Given the description of an element on the screen output the (x, y) to click on. 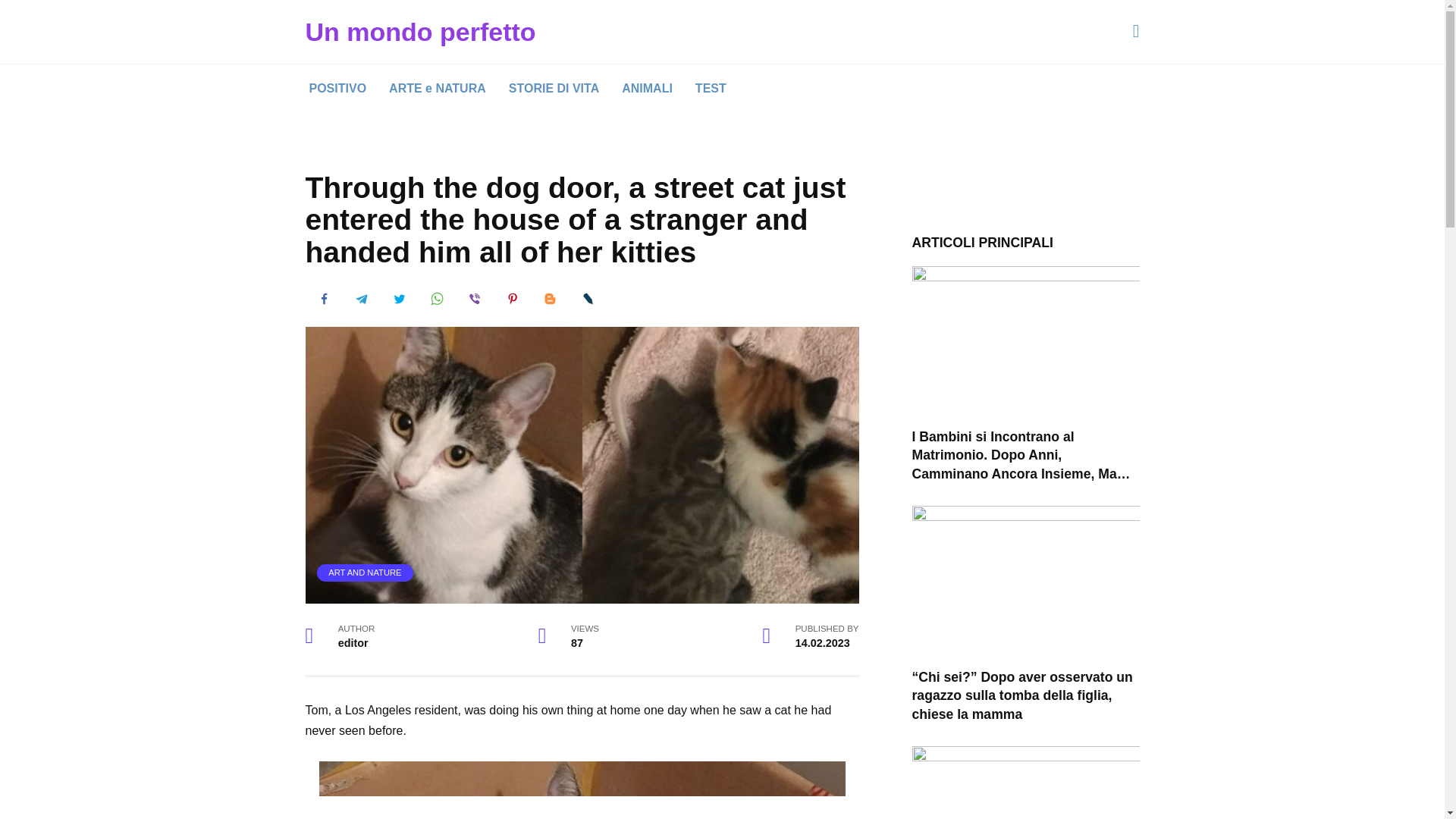
ART AND NATURE (365, 572)
POSITIVO (337, 88)
ARTE e NATURA (437, 88)
Un mondo perfetto (419, 31)
STORIE DI VITA (553, 88)
ANIMALI (647, 88)
TEST (711, 88)
